Given the description of an element on the screen output the (x, y) to click on. 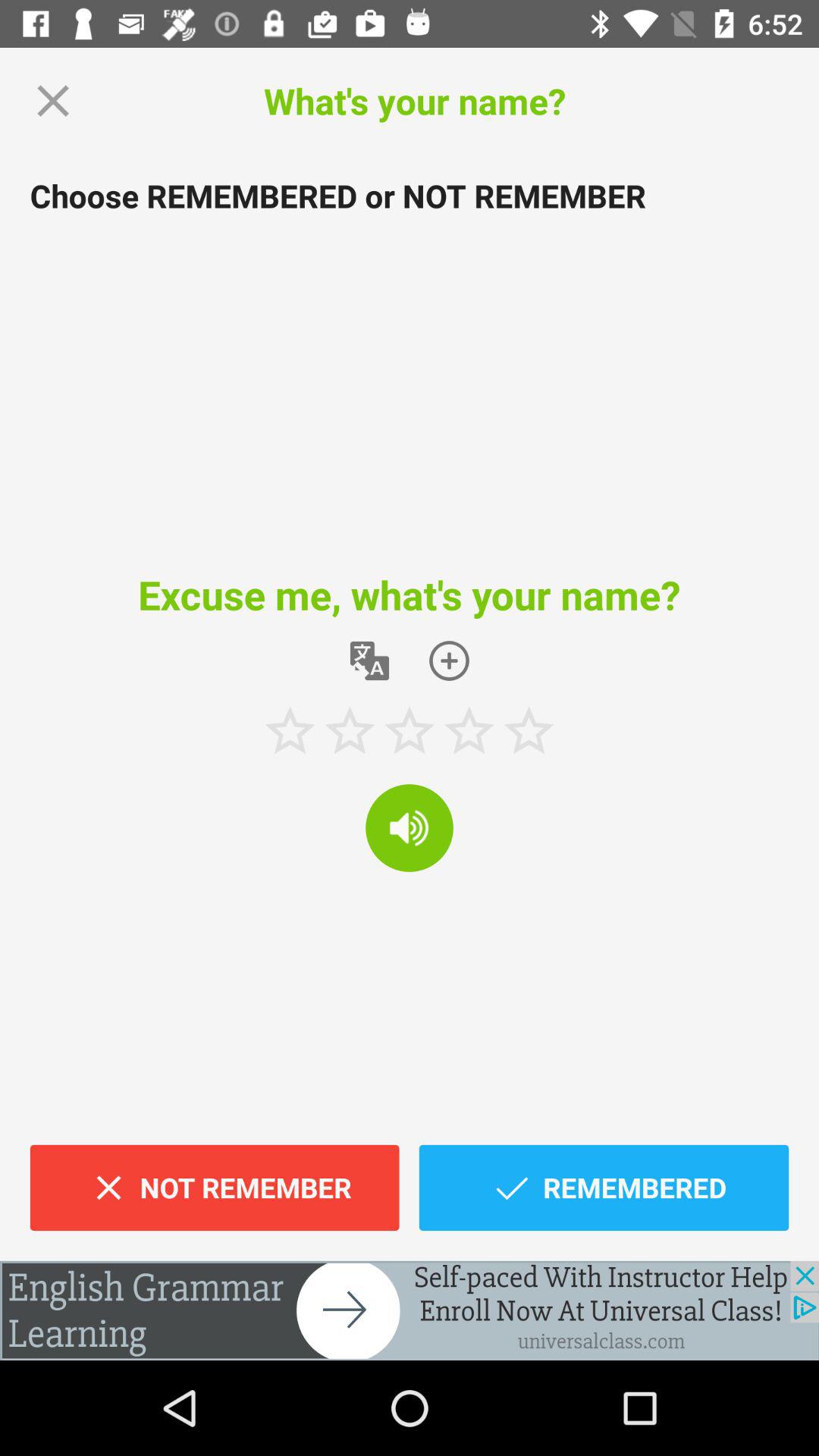
go to the universal class site (409, 1310)
